Given the description of an element on the screen output the (x, y) to click on. 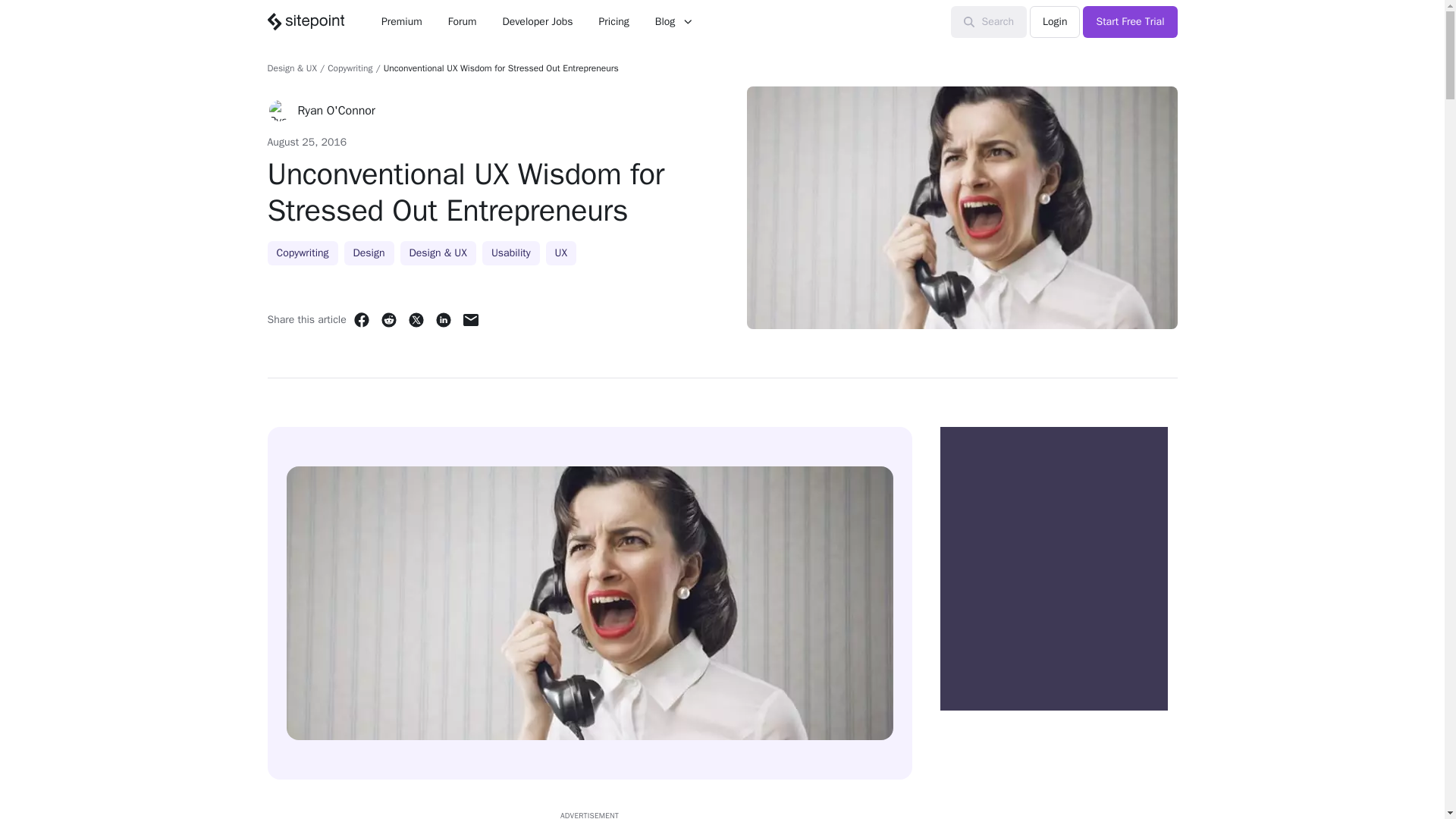
Start Free Trial (1129, 21)
Login (1054, 21)
Usability (510, 252)
Blog (674, 21)
Forum (462, 21)
Design (368, 252)
Developer Jobs (537, 21)
Premium (401, 21)
Copywriting (301, 252)
Ryan O'Connor (335, 110)
UX (561, 252)
Pricing (614, 21)
Search (988, 21)
Copywriting (349, 68)
